Given the description of an element on the screen output the (x, y) to click on. 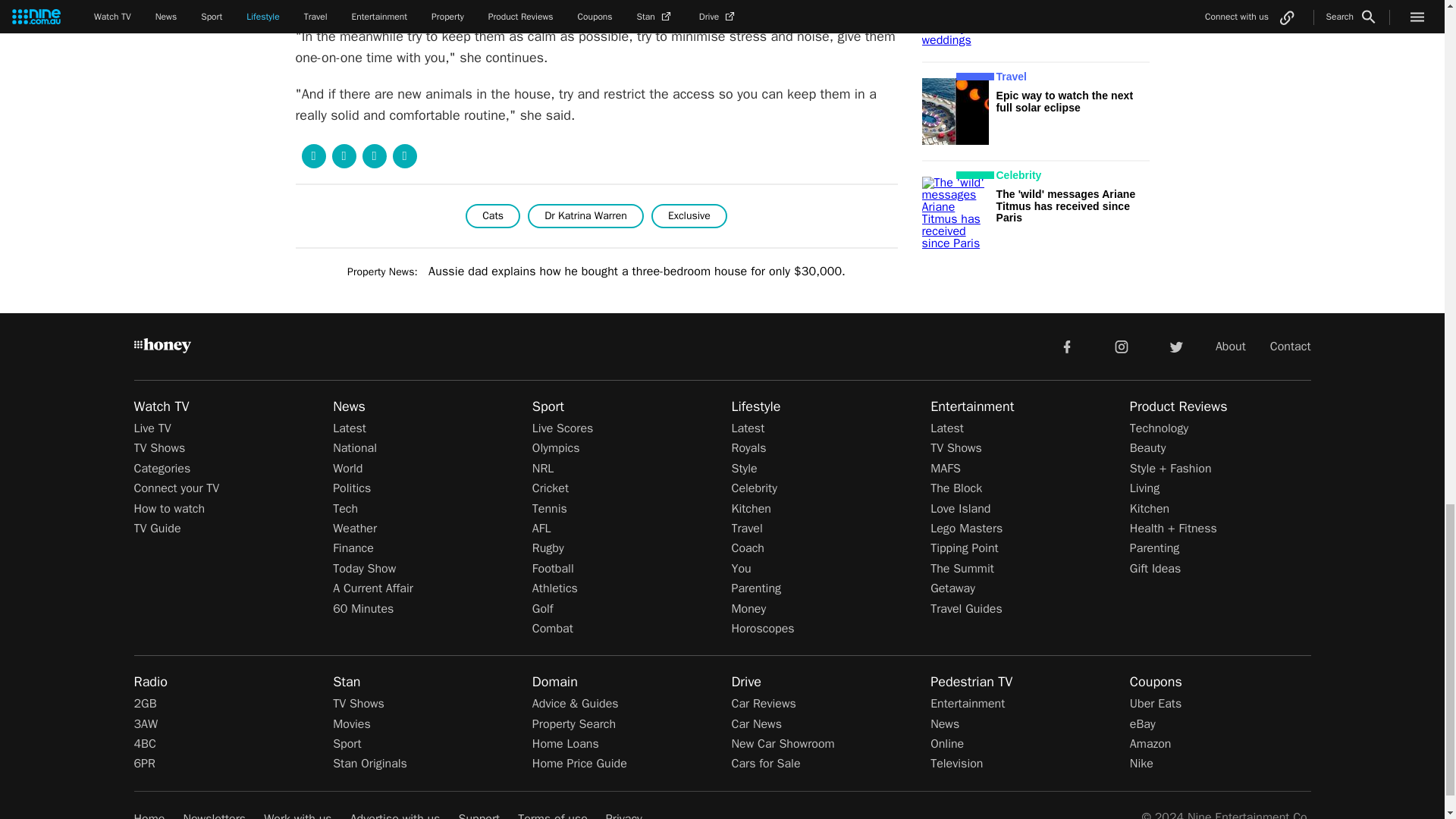
facebook (1066, 345)
Dr Katrina Warren (585, 215)
instagram (1121, 345)
Cats (492, 215)
Exclusive (688, 215)
twitter (1175, 345)
